Given the description of an element on the screen output the (x, y) to click on. 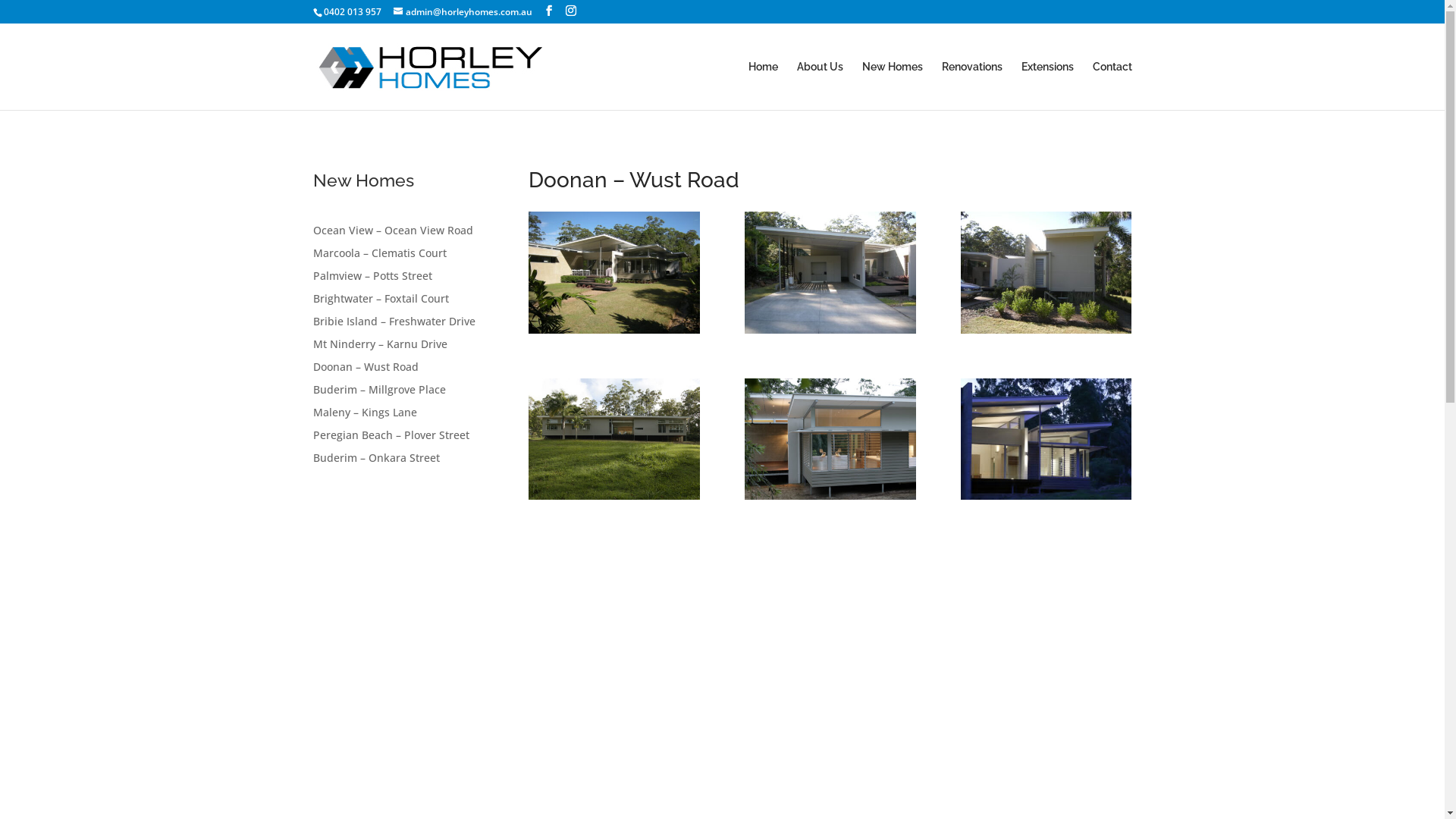
0402 013 957 Element type: text (351, 11)
b88 copy Element type: hover (613, 499)
Extensions Element type: text (1046, 85)
Renovations Element type: text (971, 85)
Contact Element type: text (1111, 85)
DSCN1510 Element type: hover (829, 665)
About Us Element type: text (819, 85)
Doonan Residence Element type: hover (613, 333)
admin@horleyhomes.com.au Element type: text (461, 11)
DSCN1513 Element type: hover (1045, 333)
b71 Element type: hover (829, 499)
DSCN1511 Element type: hover (613, 665)
Home Element type: text (762, 85)
DSCN1514 Element type: hover (829, 333)
DSCN1508 Element type: hover (1045, 665)
b77 copy Element type: hover (1045, 499)
New Homes Element type: text (891, 85)
